Given the description of an element on the screen output the (x, y) to click on. 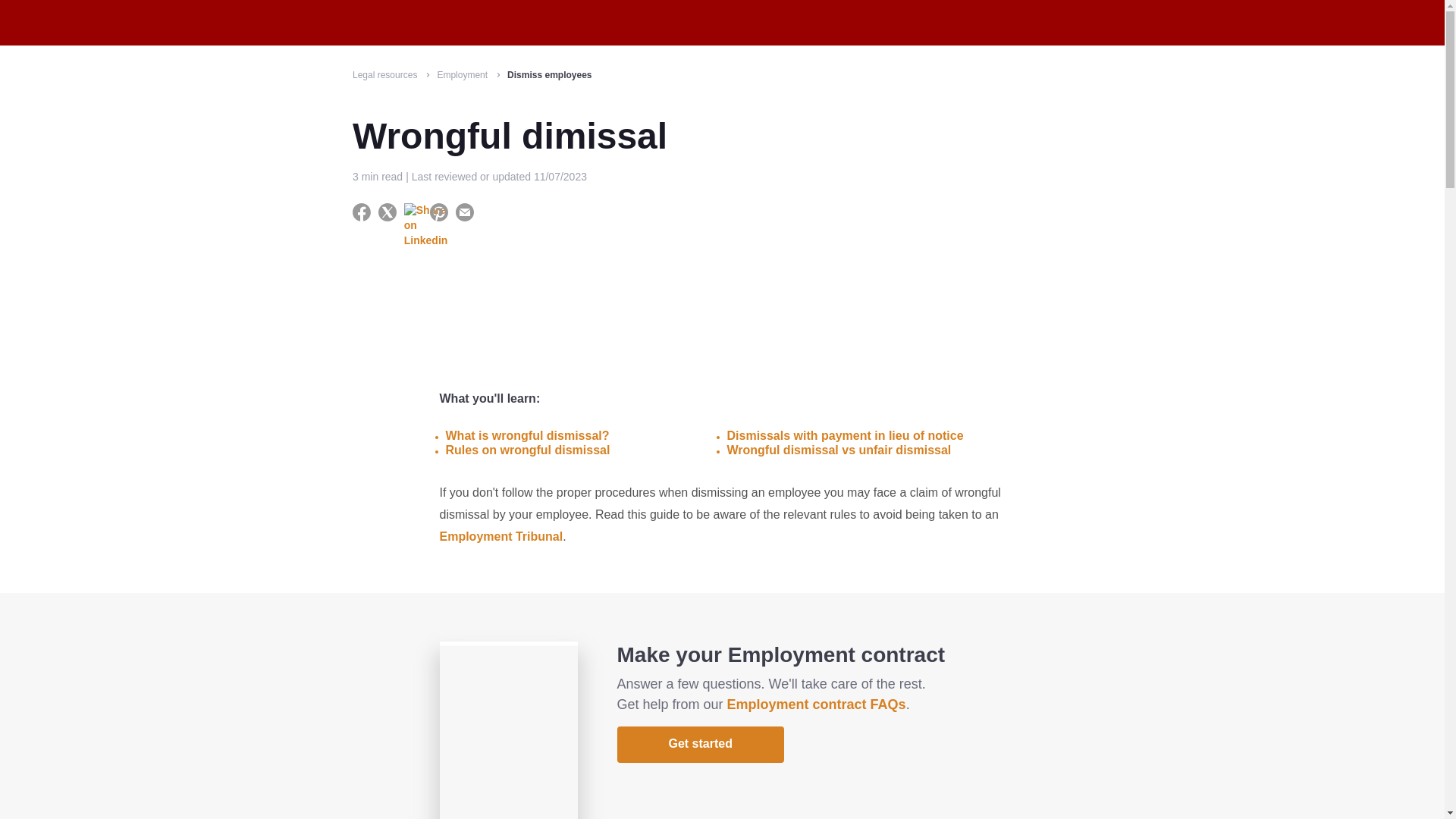
Share by Email (470, 211)
Share on Facebook (363, 211)
Share on Pinterest (440, 211)
Share on Linkedin (414, 211)
Share on Twitter (388, 211)
